Given the description of an element on the screen output the (x, y) to click on. 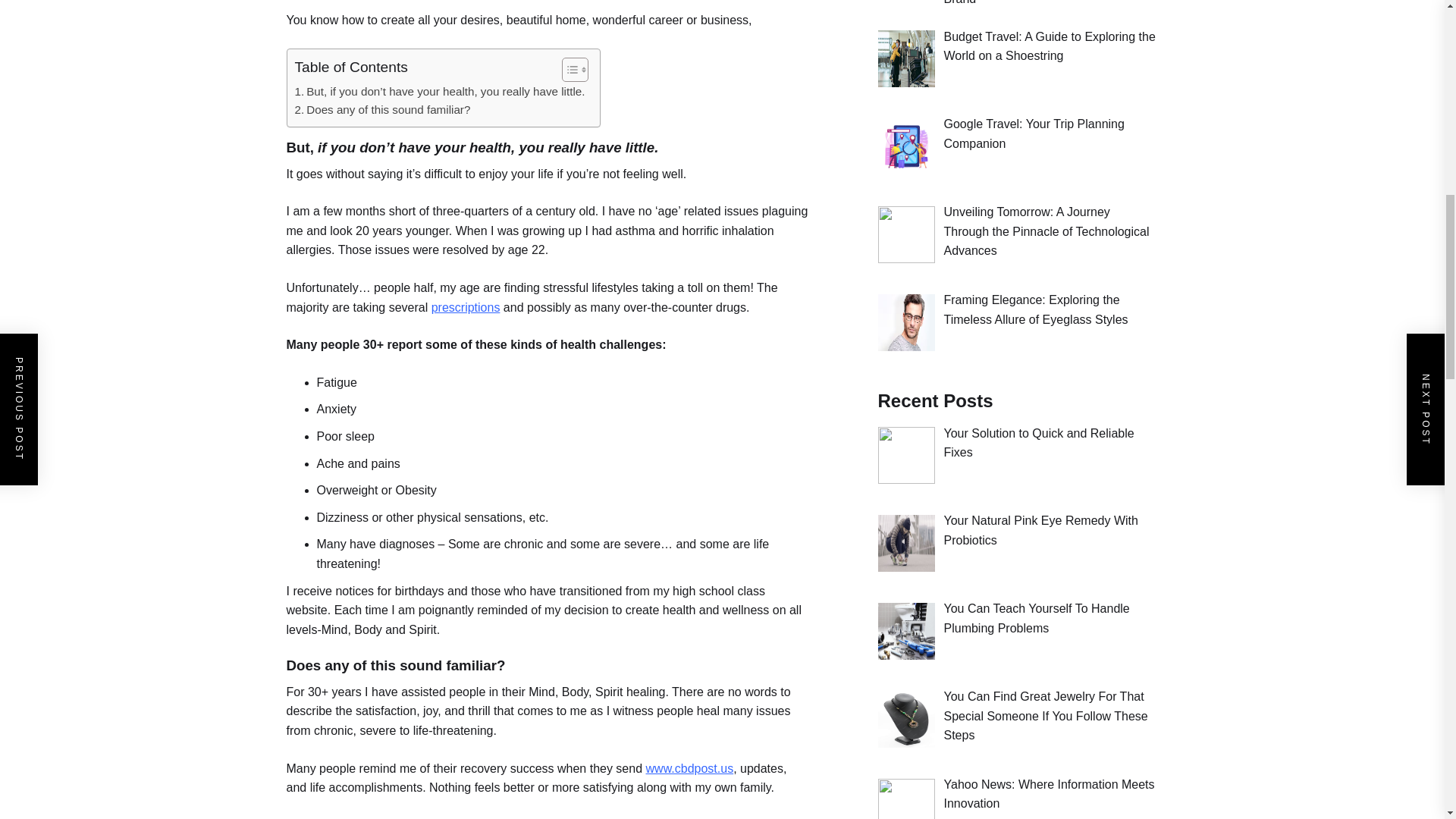
Does any of this sound familiar? (382, 109)
